Given the description of an element on the screen output the (x, y) to click on. 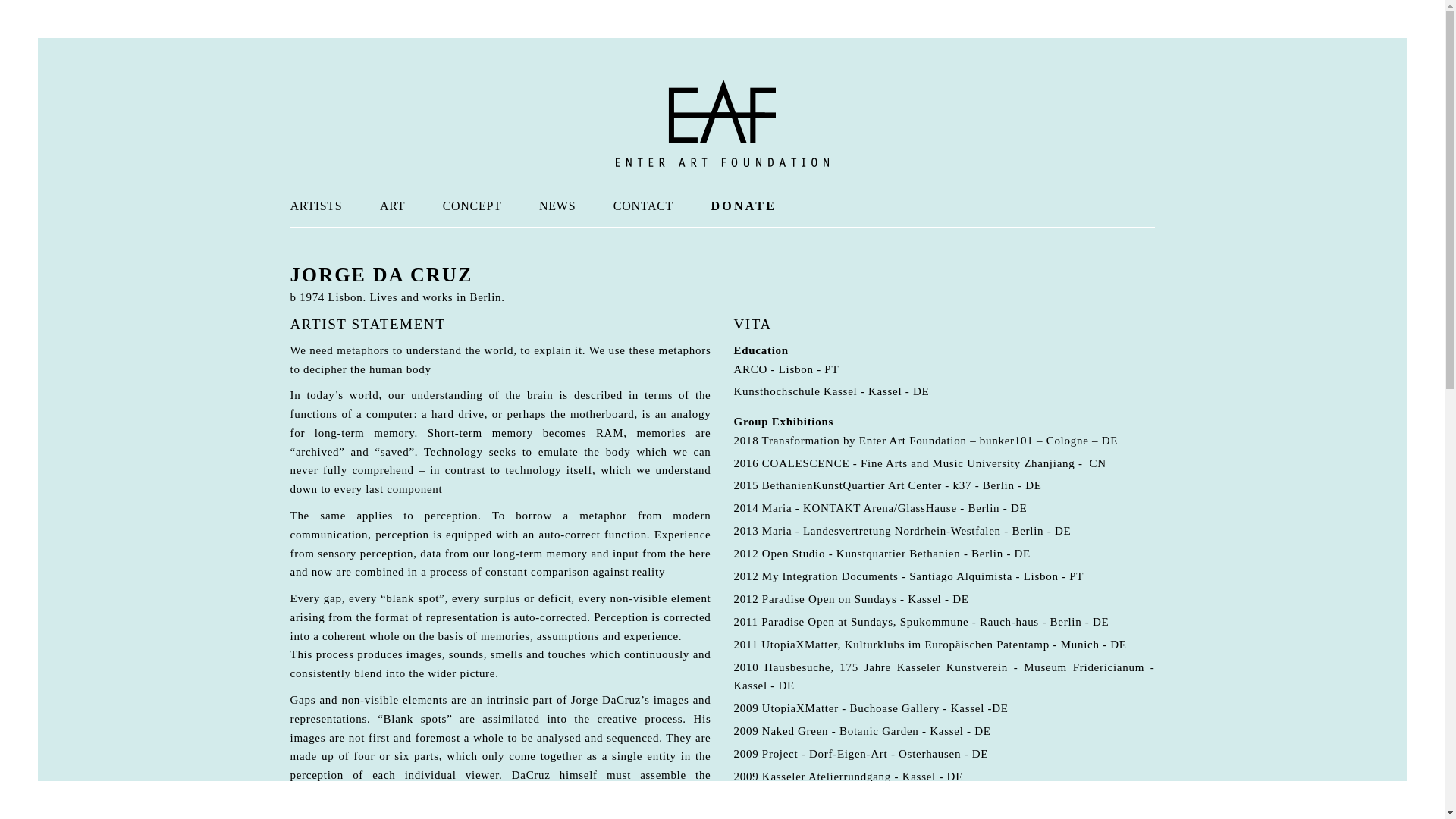
ART (392, 205)
Facebook (301, 754)
Instagram (331, 754)
CONCEPT (472, 205)
ARTISTS (315, 205)
NEWS (556, 205)
CONTACT (642, 205)
DONATE (743, 205)
